Given the description of an element on the screen output the (x, y) to click on. 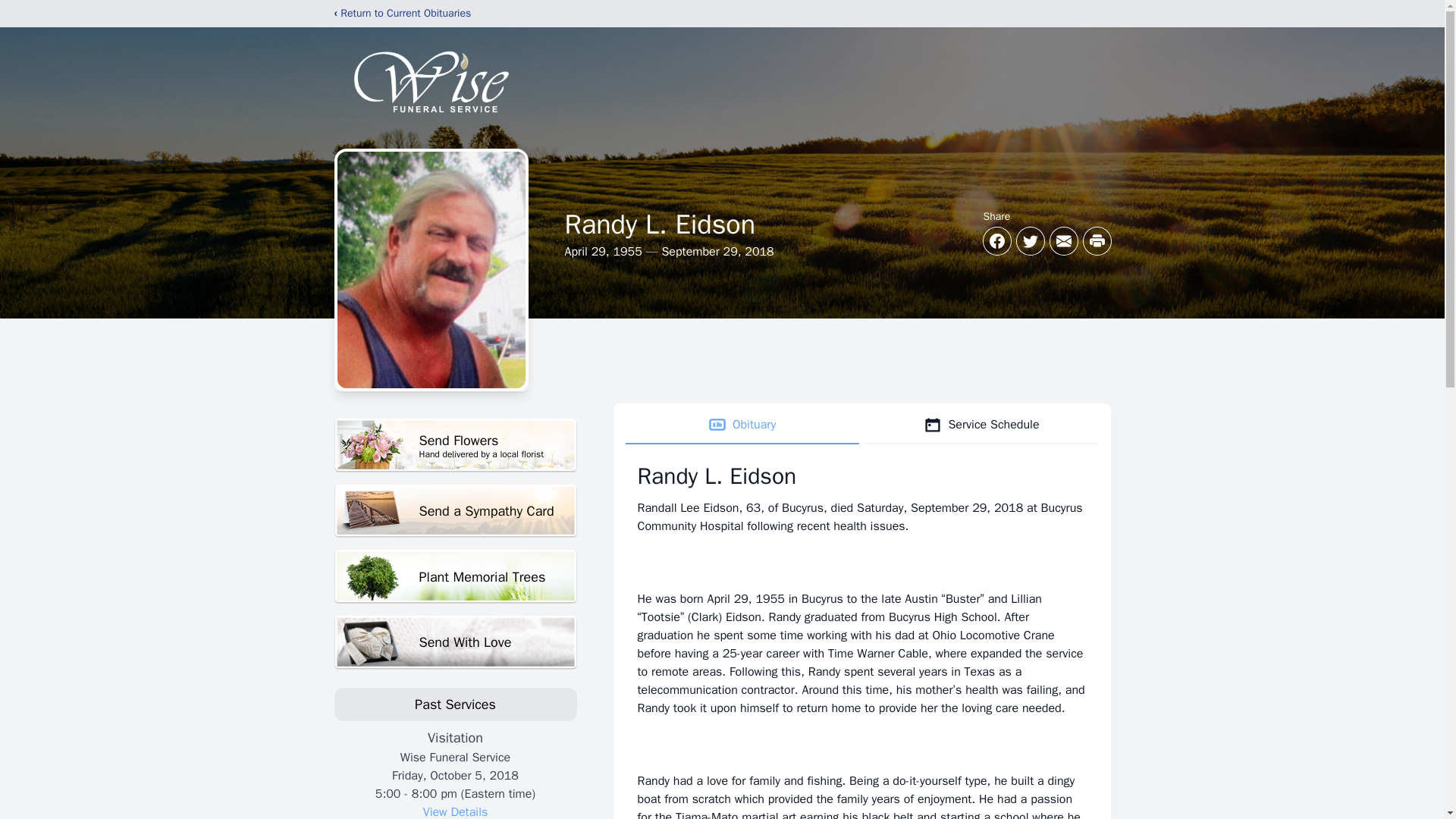
Plant Memorial Trees (454, 576)
Service Schedule (454, 445)
View Details (980, 425)
Obituary (455, 811)
Send With Love (741, 425)
Send a Sympathy Card (454, 642)
